Given the description of an element on the screen output the (x, y) to click on. 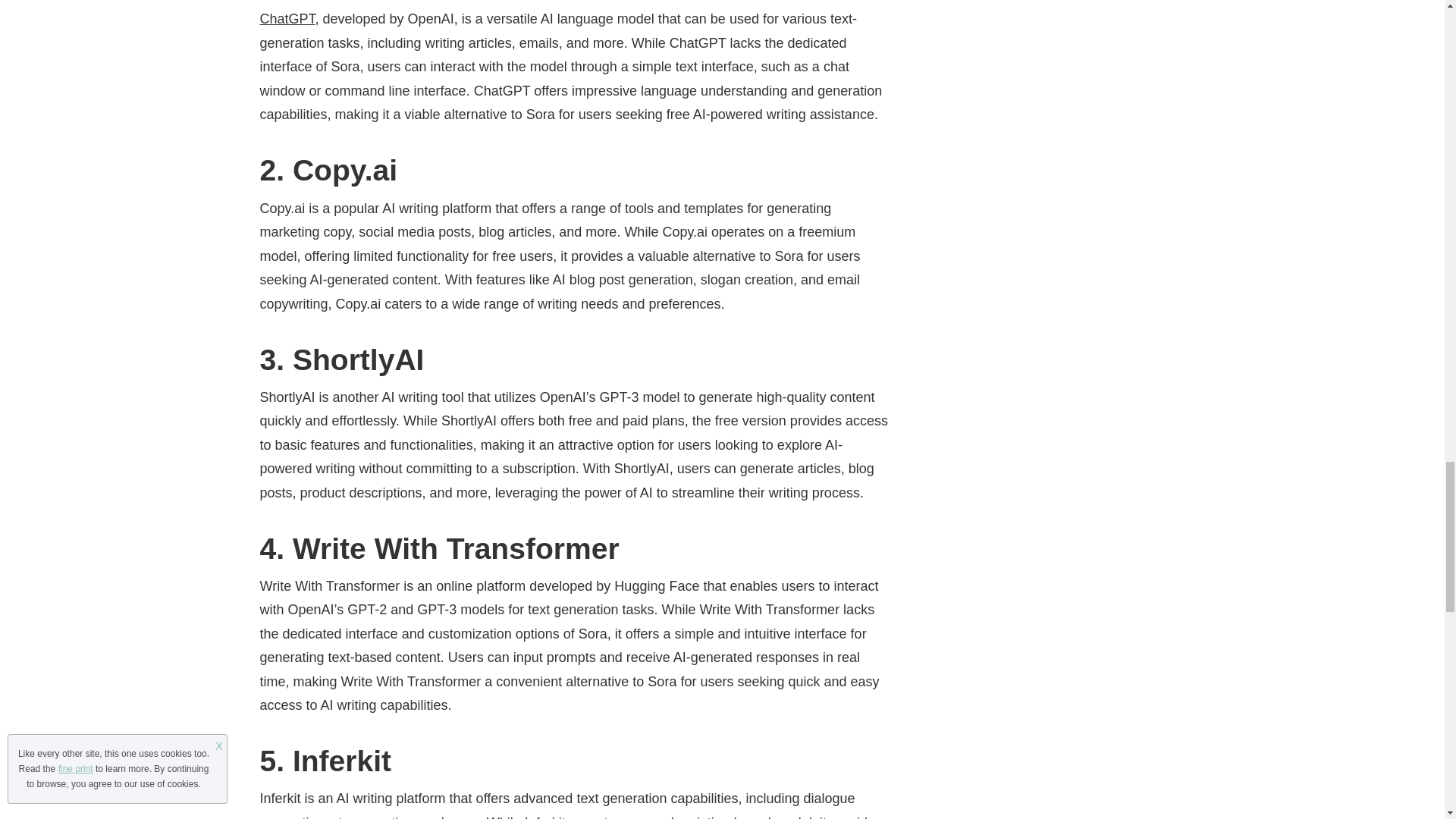
ChatGPT (286, 18)
